Given the description of an element on the screen output the (x, y) to click on. 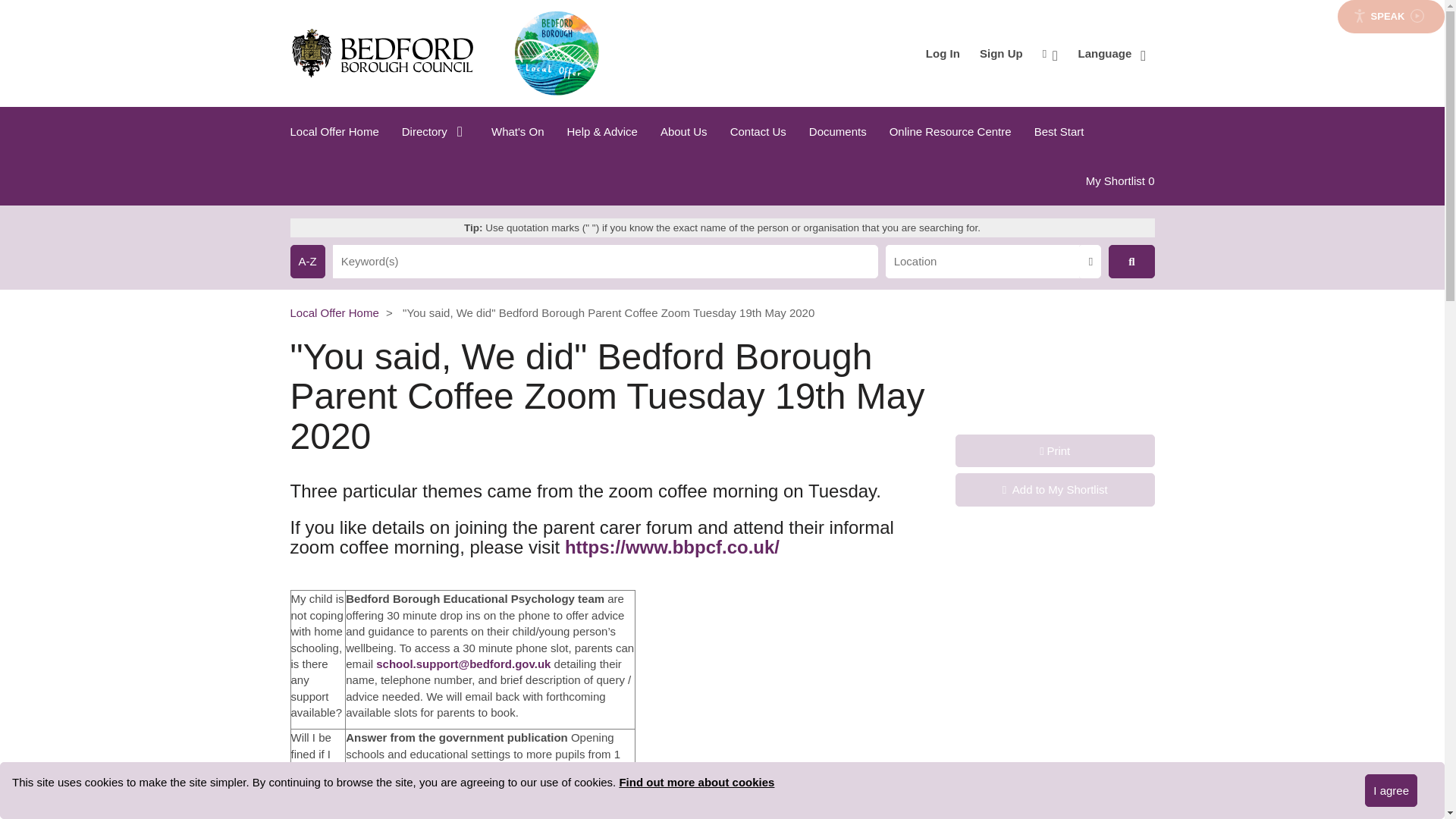
Best Start (1059, 131)
Language (1111, 52)
Accessibility (1049, 52)
What's On (518, 131)
Local Offer Home (339, 131)
My Shortlist 0 (1120, 180)
About Us (684, 131)
Directory  (435, 131)
Contact Us (758, 131)
Log In (942, 52)
I agree (1111, 52)
Accessibility (1390, 789)
A-Z (1049, 52)
Documents (306, 260)
